Given the description of an element on the screen output the (x, y) to click on. 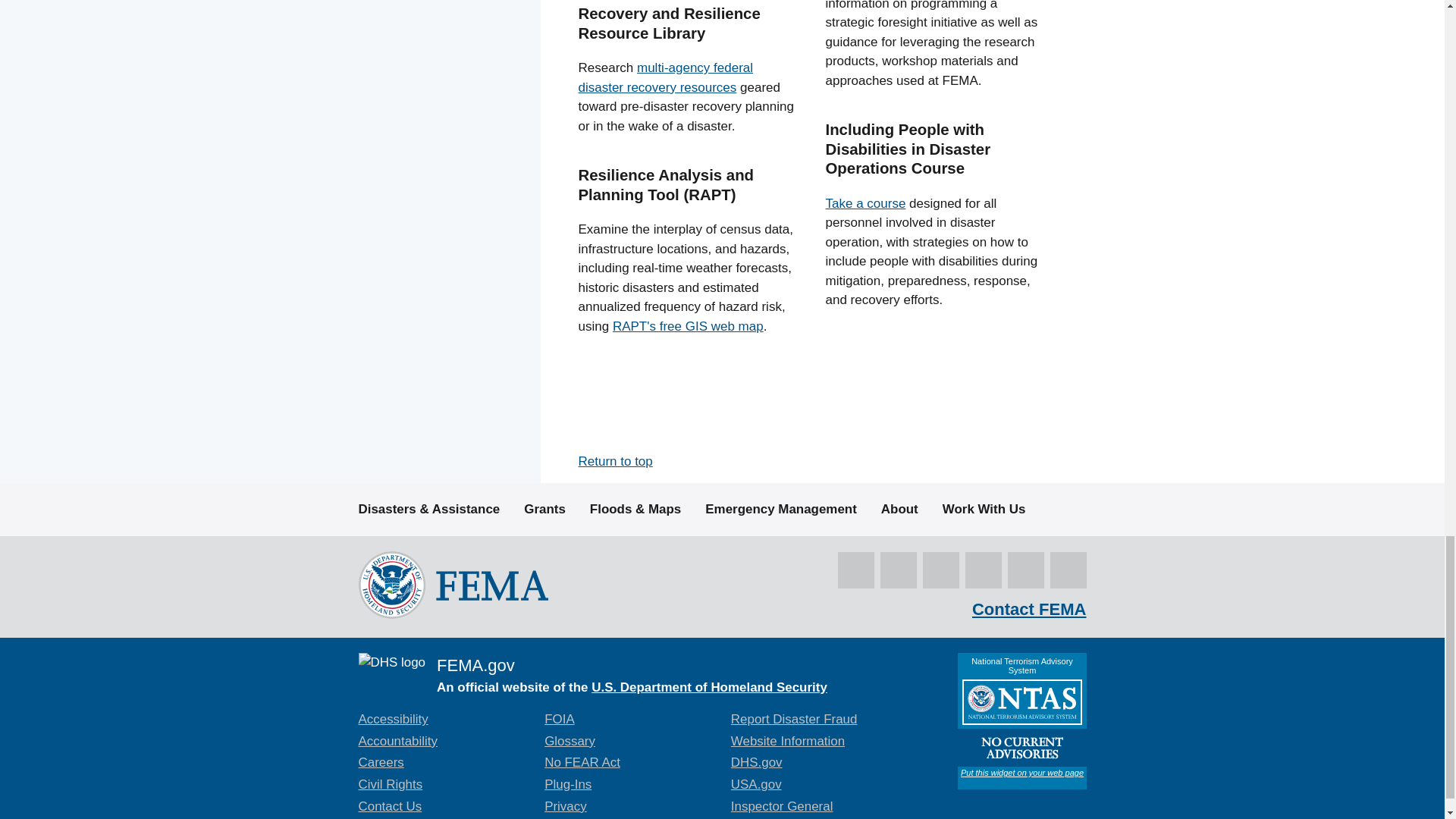
National Terrorism Advisory System (1021, 720)
FEMA logo (452, 584)
